Given the description of an element on the screen output the (x, y) to click on. 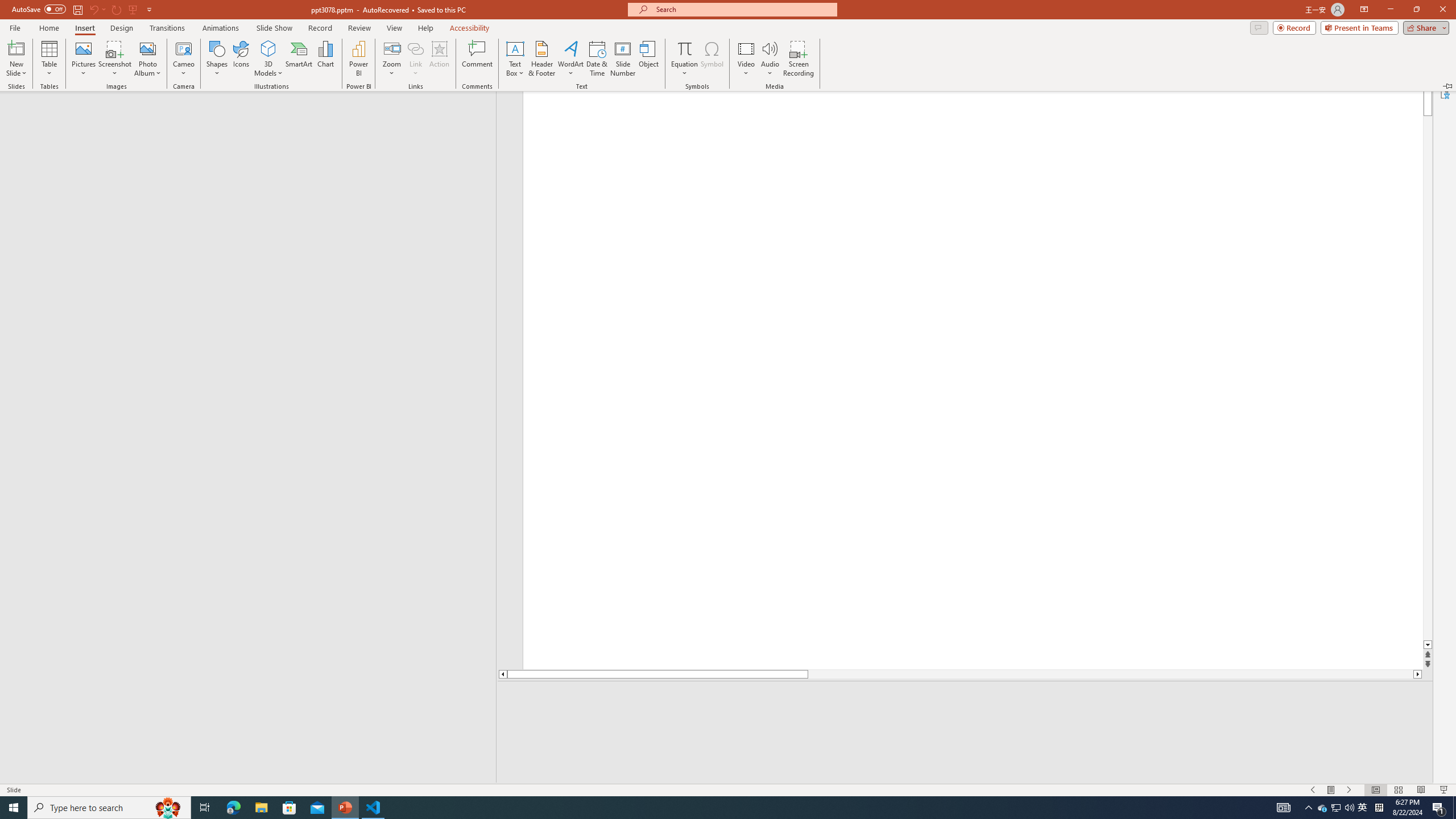
Action Center, 1 new notification (1439, 807)
Menu On (1331, 790)
Slide Show Next On (1322, 807)
